Given the description of an element on the screen output the (x, y) to click on. 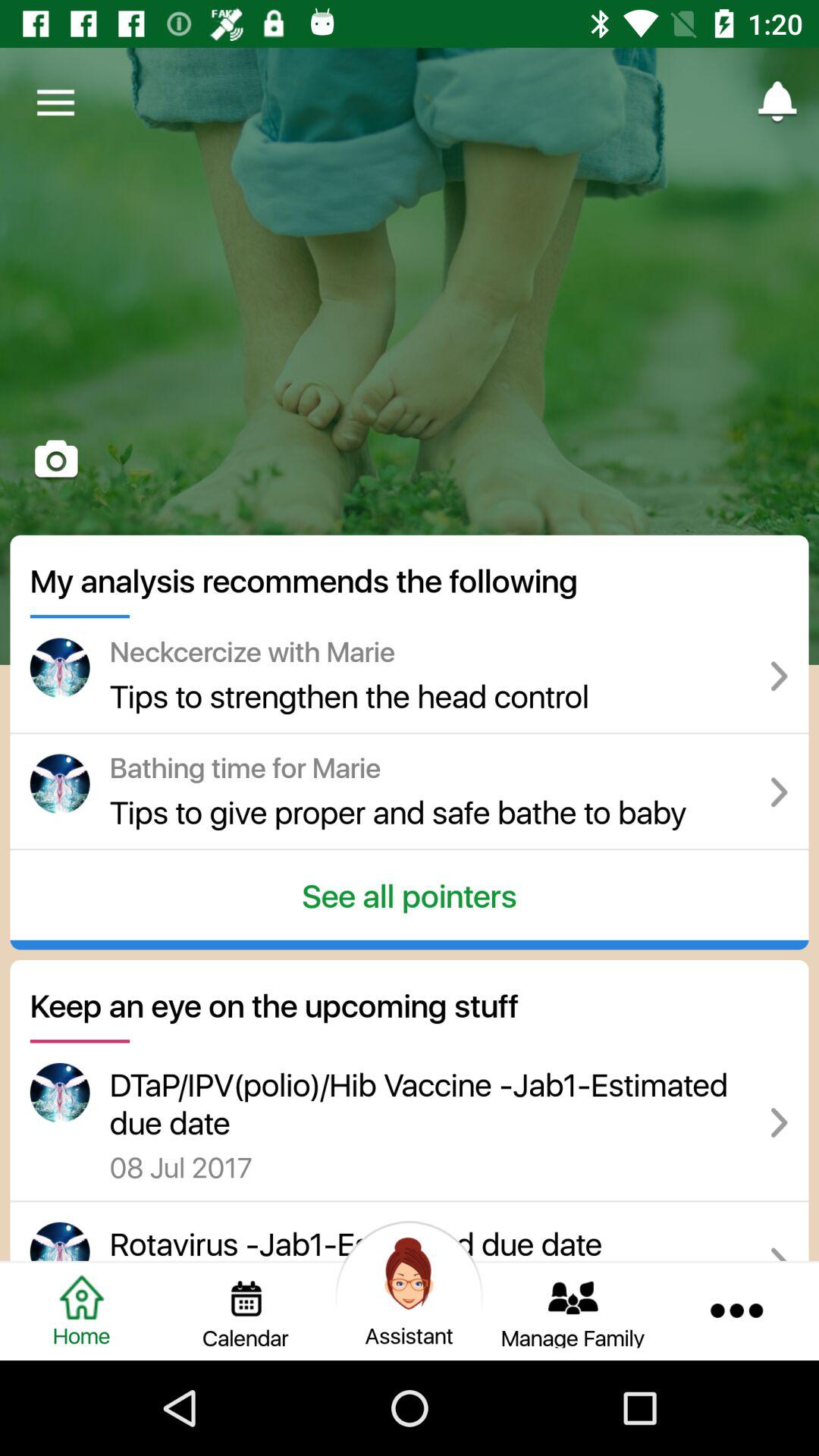
view recommendations from the virtual assistant (409, 1310)
